Given the description of an element on the screen output the (x, y) to click on. 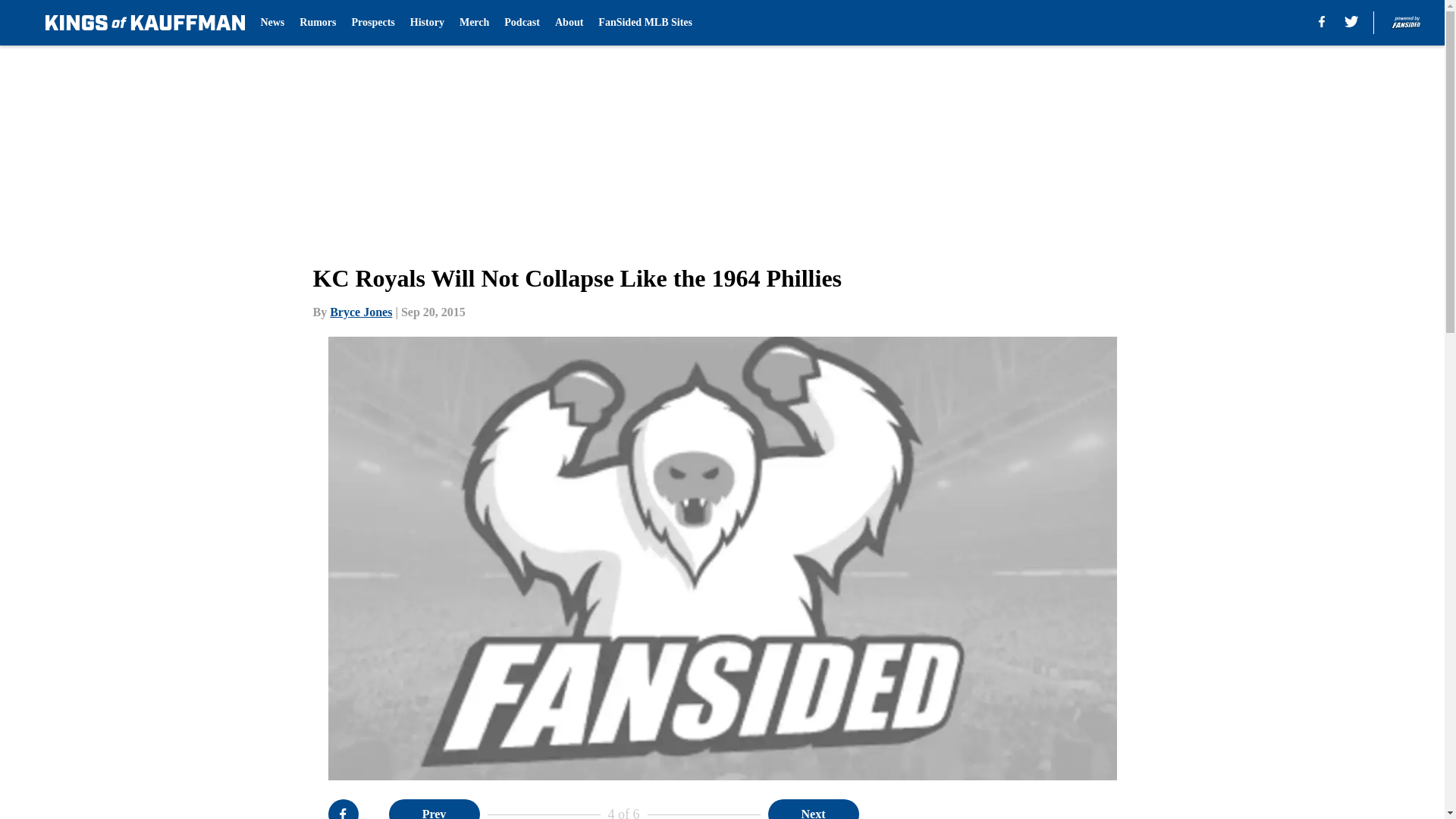
Prospects (373, 22)
Next (813, 809)
Prev (433, 809)
History (427, 22)
Rumors (317, 22)
FanSided MLB Sites (645, 22)
About (568, 22)
Bryce Jones (360, 311)
Merch (474, 22)
News (271, 22)
Podcast (521, 22)
